Given the description of an element on the screen output the (x, y) to click on. 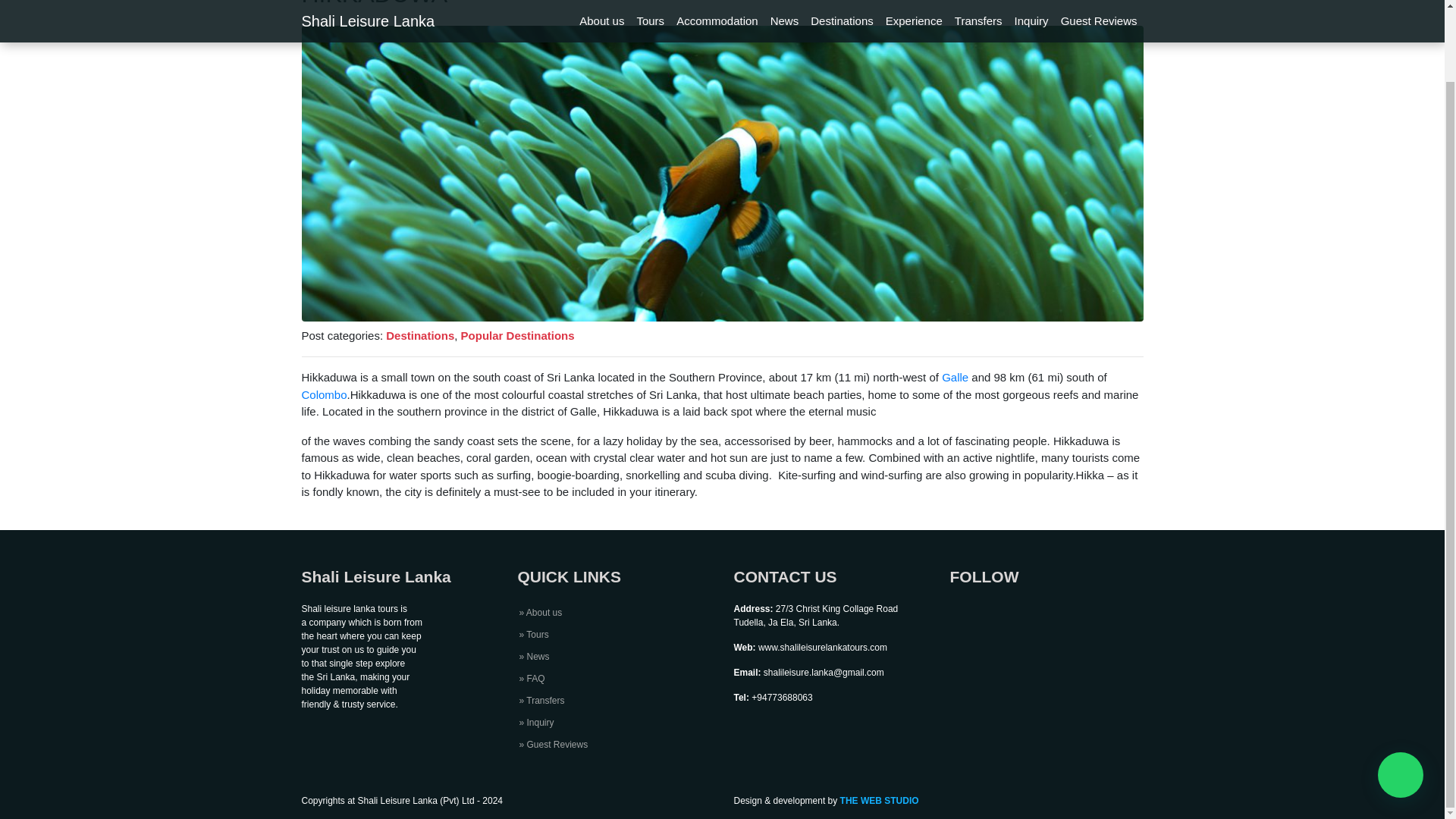
Galle (955, 377)
FAQ (531, 678)
Guest Reviews (553, 744)
Popular Destinations (518, 335)
THE WEB STUDIO (879, 800)
Colombo (324, 394)
News (533, 656)
Destinations (419, 335)
About us (540, 612)
Inquiry (535, 722)
